Given the description of an element on the screen output the (x, y) to click on. 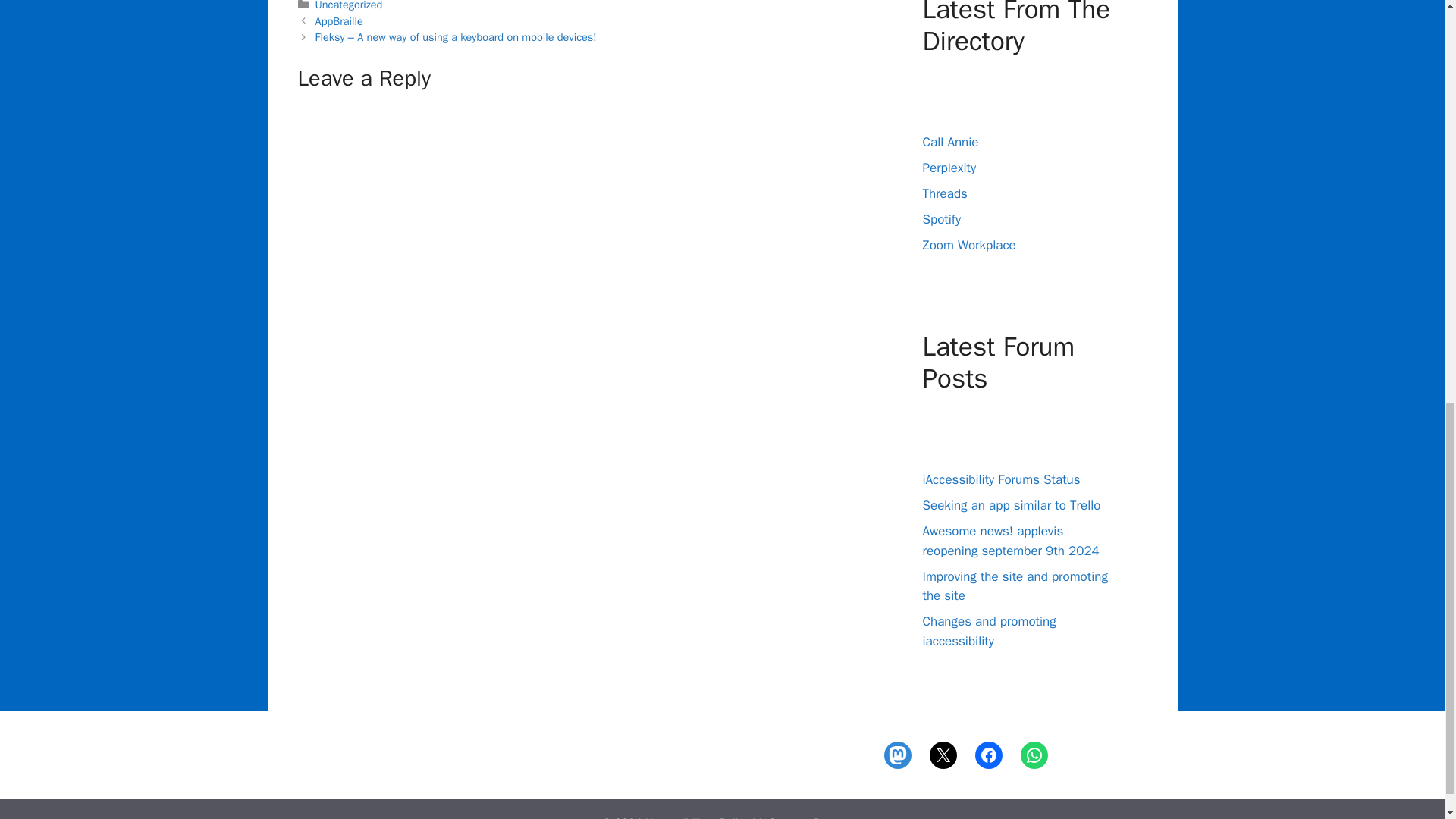
Uncategorized (348, 5)
AppBraille (338, 20)
